Given the description of an element on the screen output the (x, y) to click on. 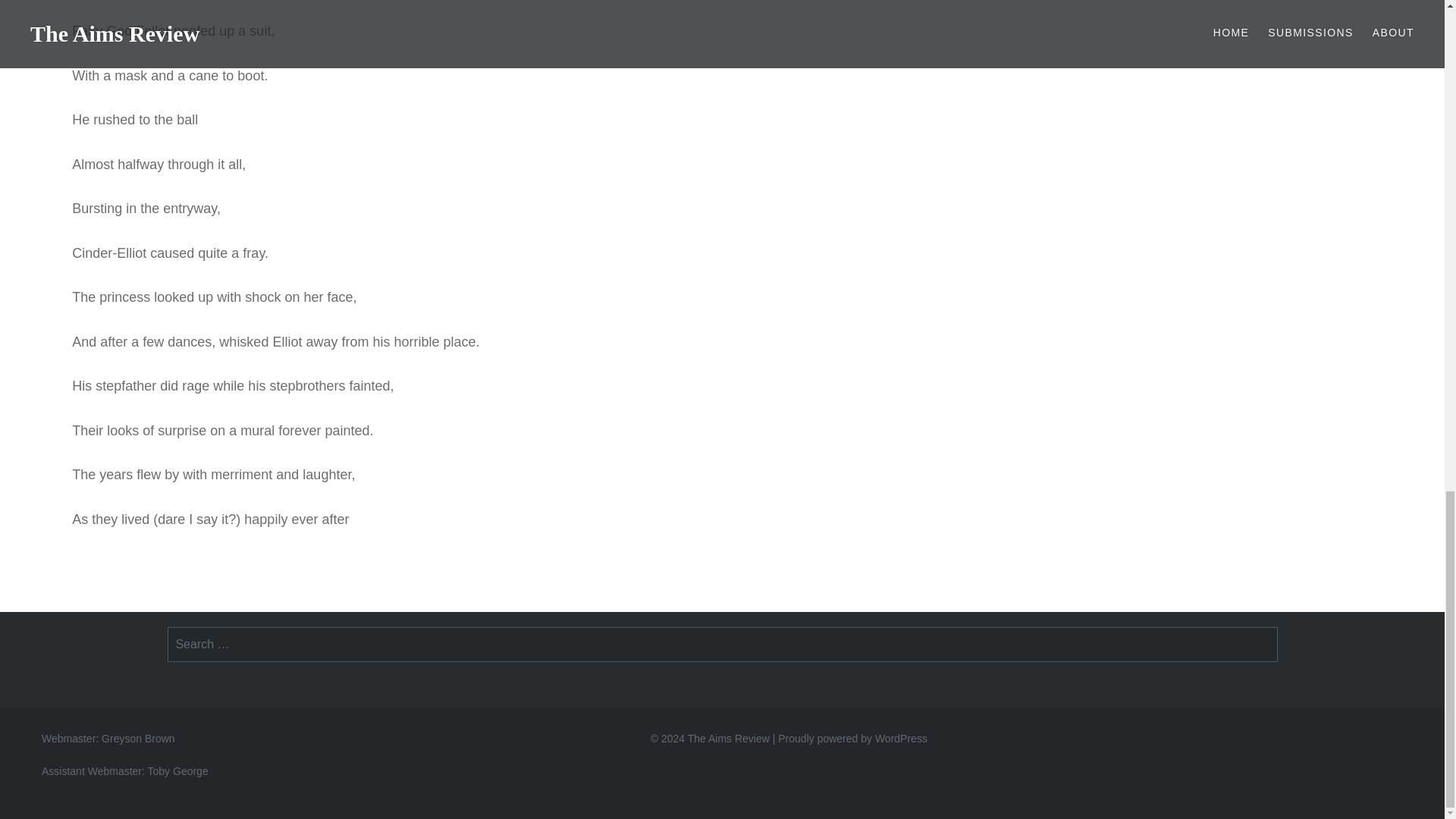
The Aims Review (728, 738)
Proudly powered by WordPress (852, 738)
The Aims Review (728, 738)
